Given the description of an element on the screen output the (x, y) to click on. 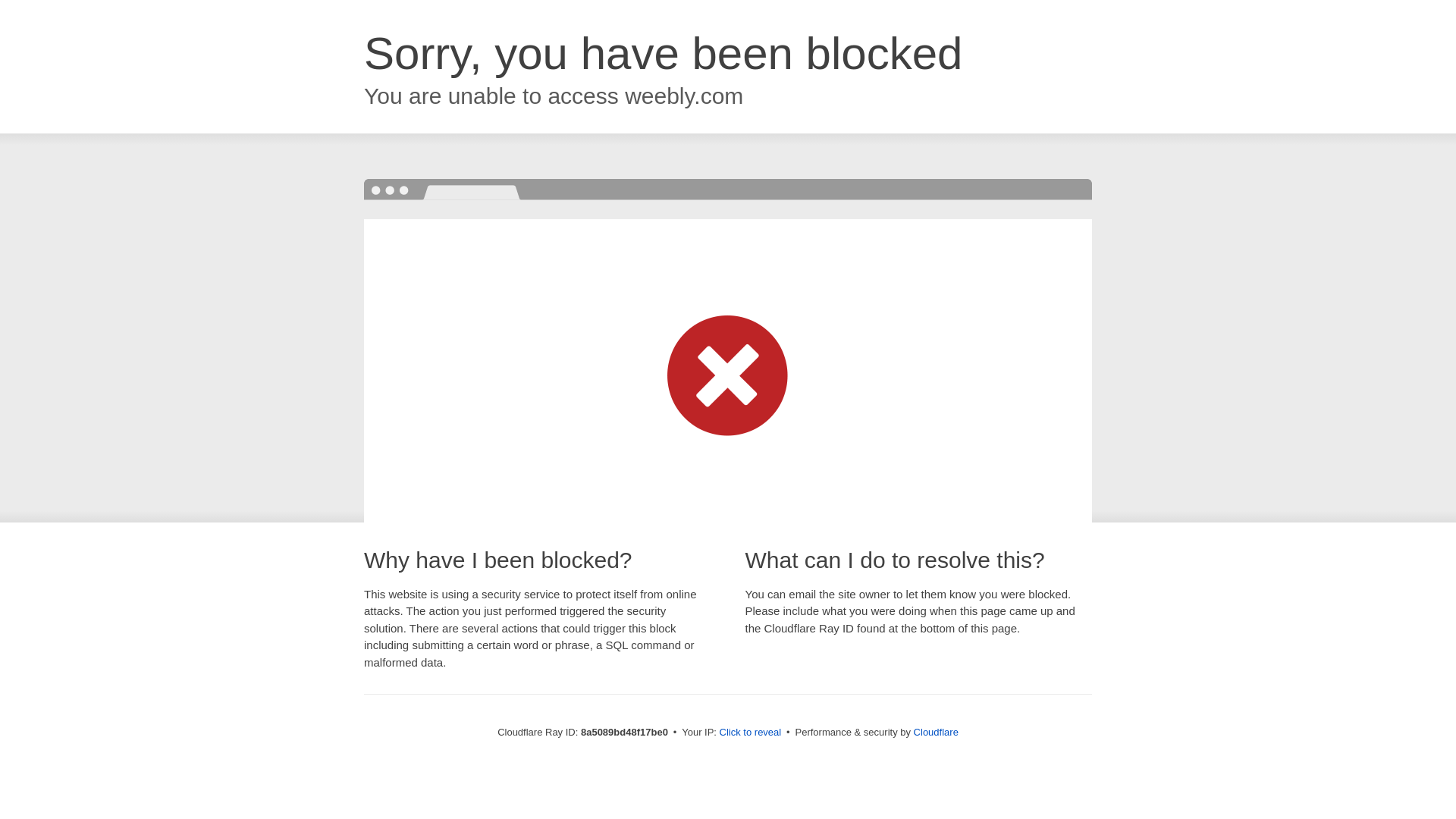
Click to reveal (750, 732)
Cloudflare (936, 731)
